Given the description of an element on the screen output the (x, y) to click on. 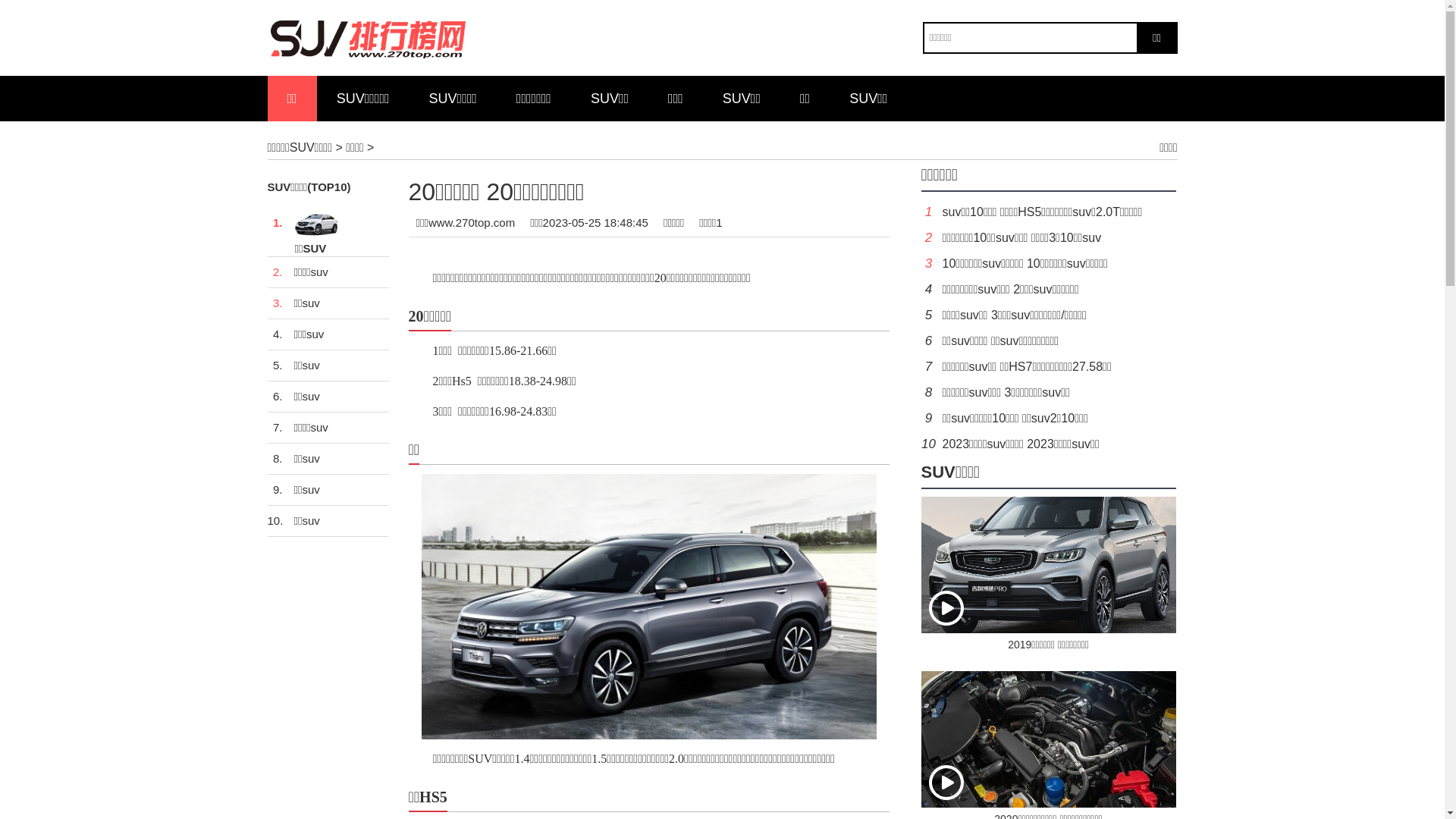
www.270top.com Element type: text (471, 222)
